Given the description of an element on the screen output the (x, y) to click on. 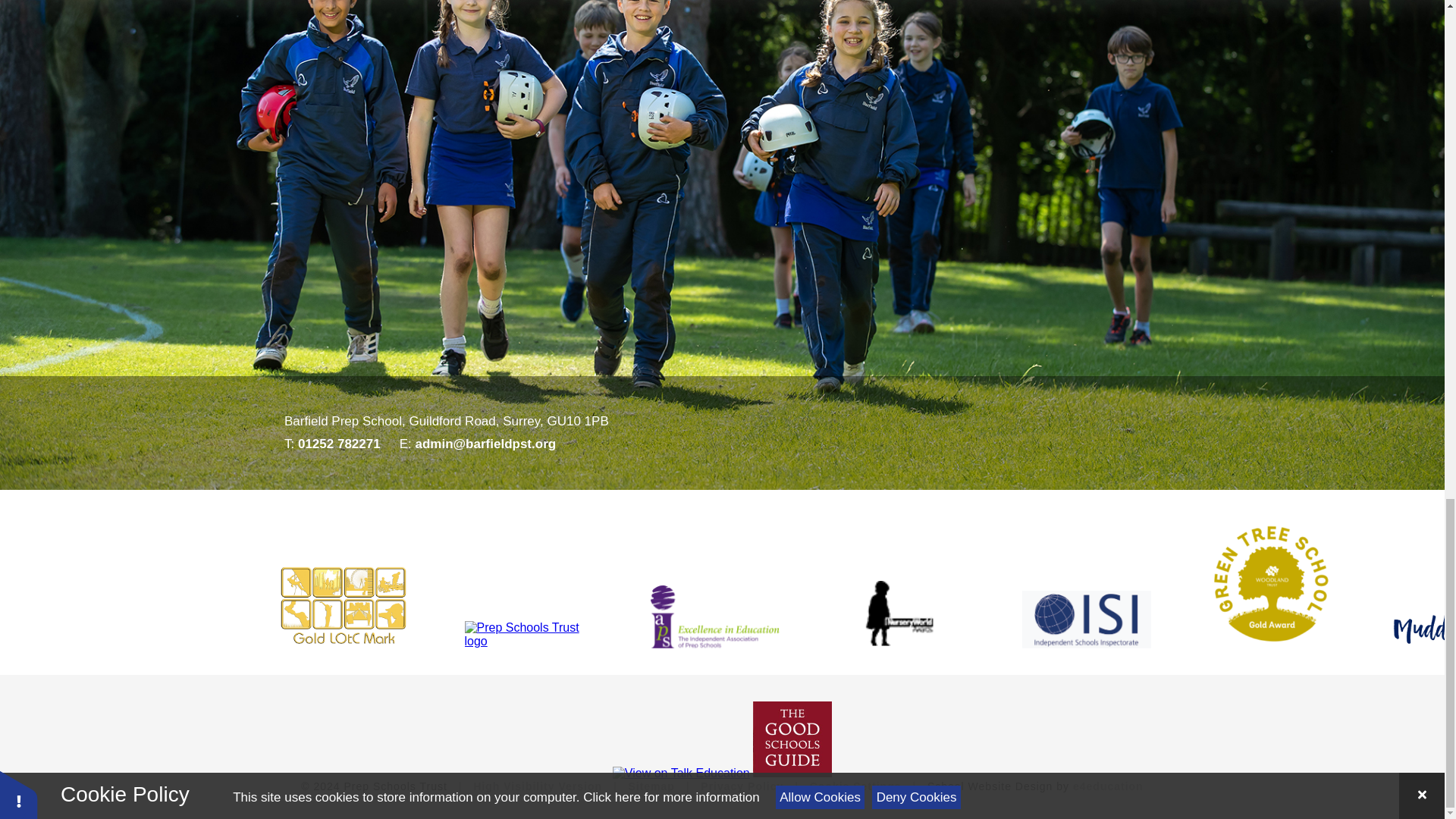
Cookie Settings (855, 786)
